Given the description of an element on the screen output the (x, y) to click on. 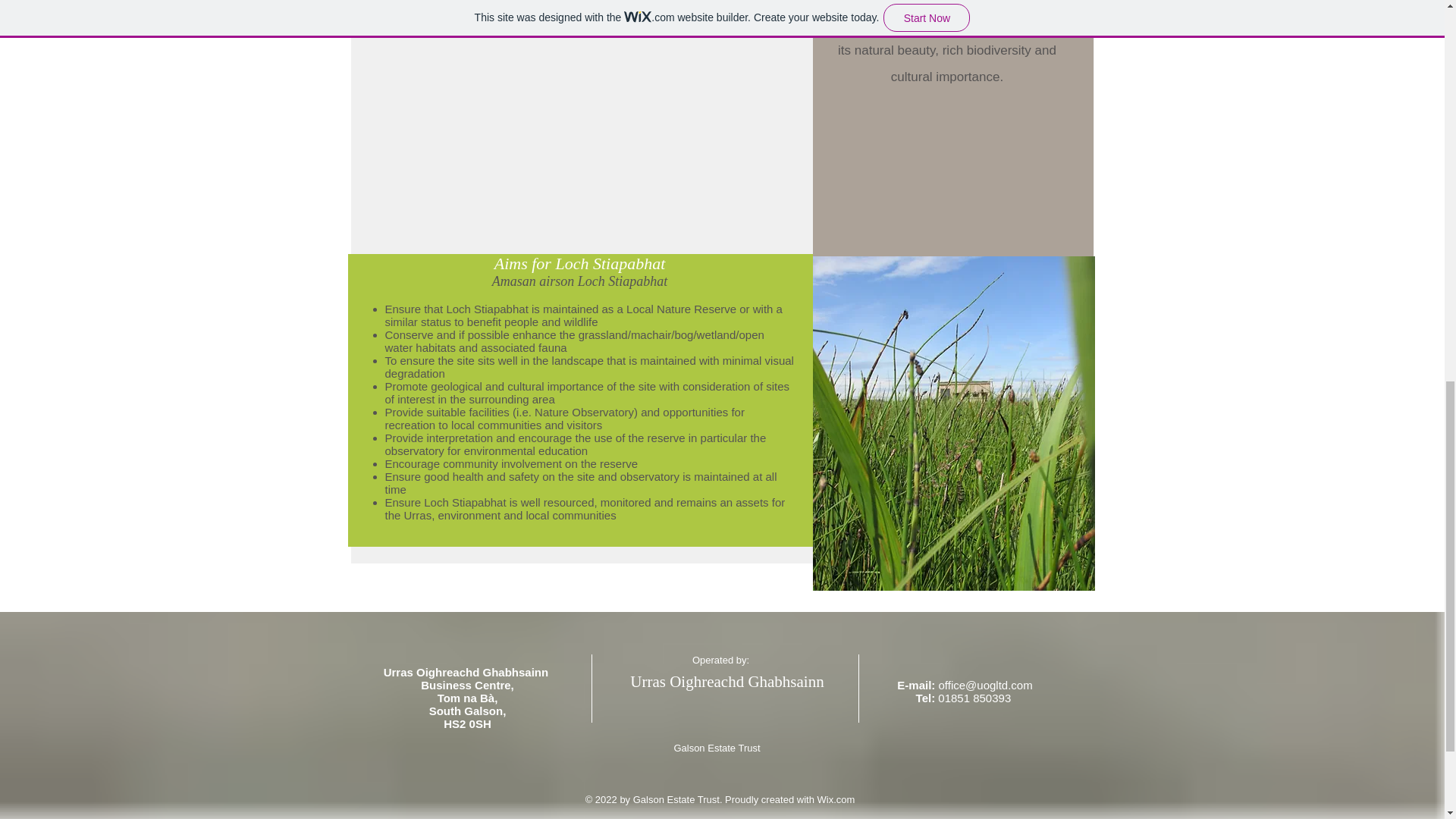
Find out about LNRs (680, 274)
Wix.com (836, 799)
Find out about SPAs (469, 274)
Galson Estate Trust (716, 747)
Urras Oighreachd Ghabhsainn (727, 681)
